Given the description of an element on the screen output the (x, y) to click on. 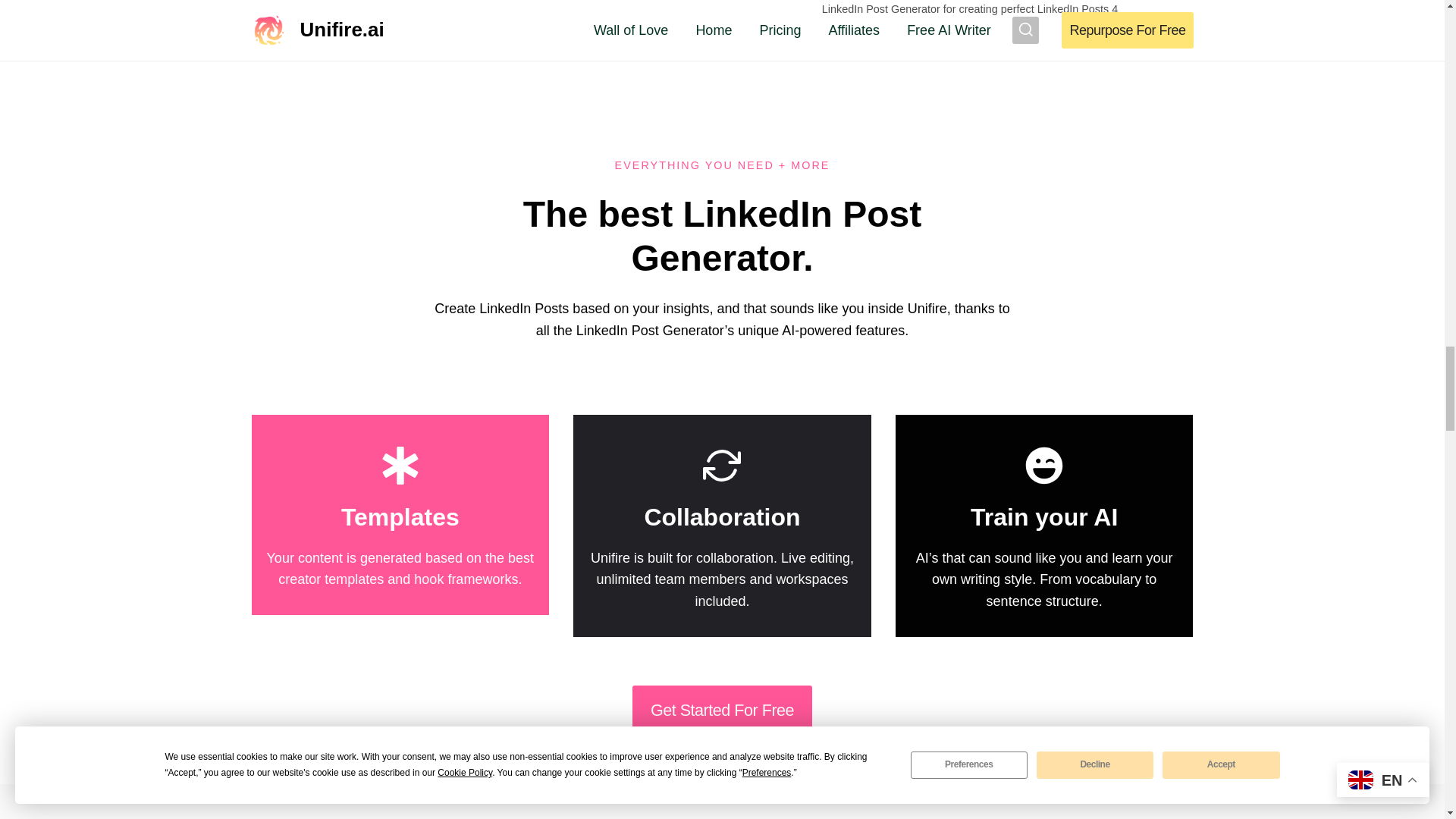
Get Started For Free (721, 710)
